Given the description of an element on the screen output the (x, y) to click on. 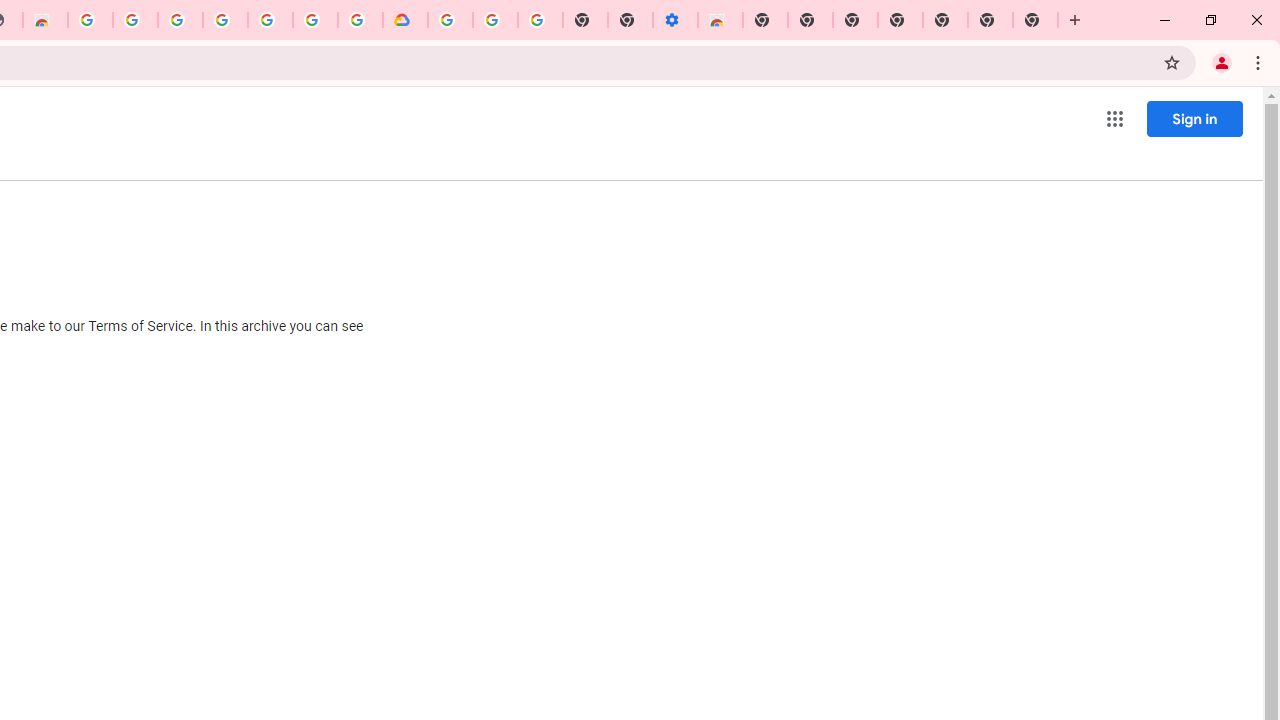
Turn cookies on or off - Computer - Google Account Help (540, 20)
New Tab (1035, 20)
New Tab (765, 20)
Chrome Web Store - Household (45, 20)
Google Account Help (495, 20)
Ad Settings (134, 20)
